Given the description of an element on the screen output the (x, y) to click on. 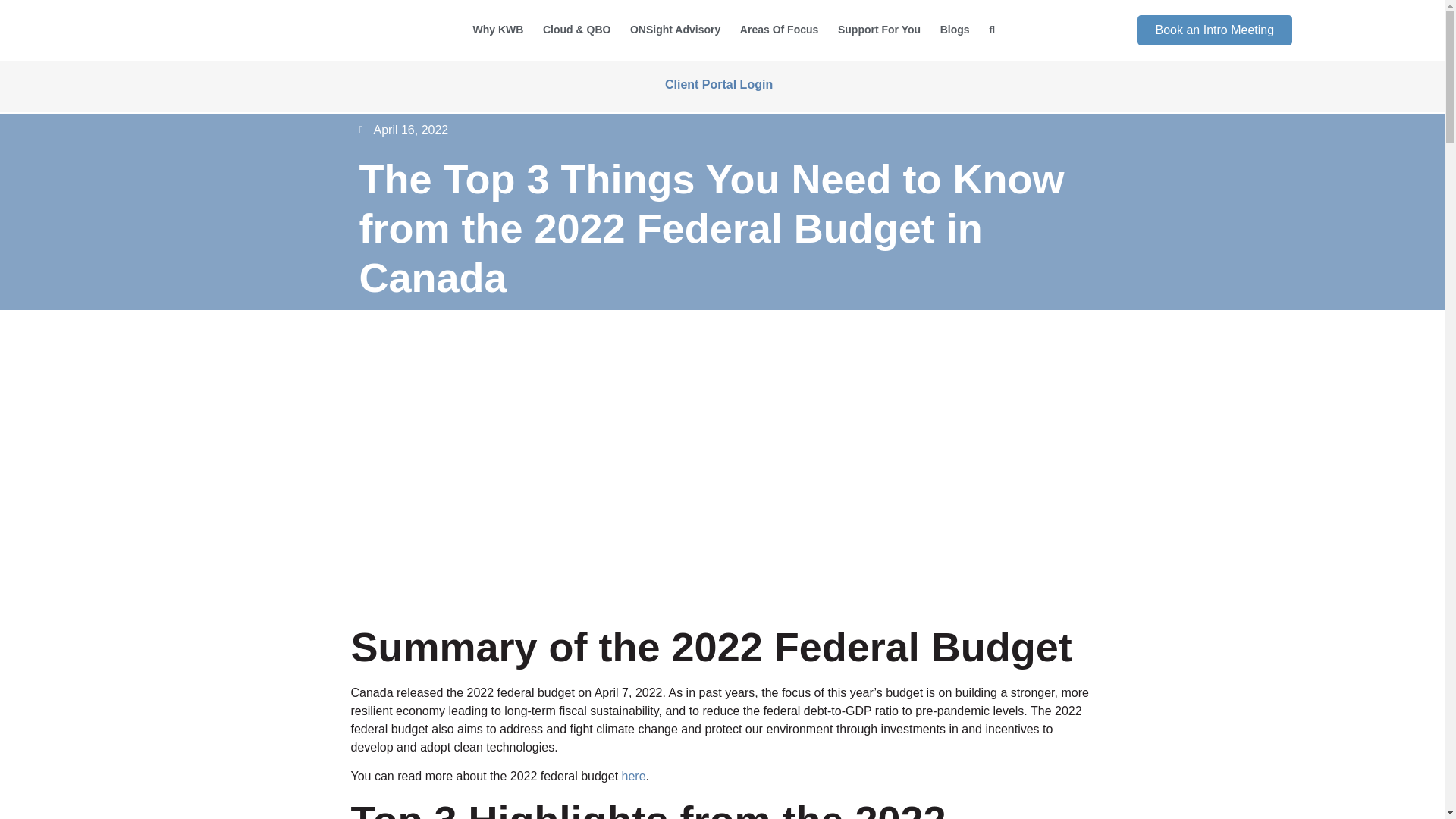
Why KWB (497, 30)
ONSight Advisory (675, 30)
Support For You (879, 30)
Areas Of Focus (779, 30)
Blogs (954, 30)
